Given the description of an element on the screen output the (x, y) to click on. 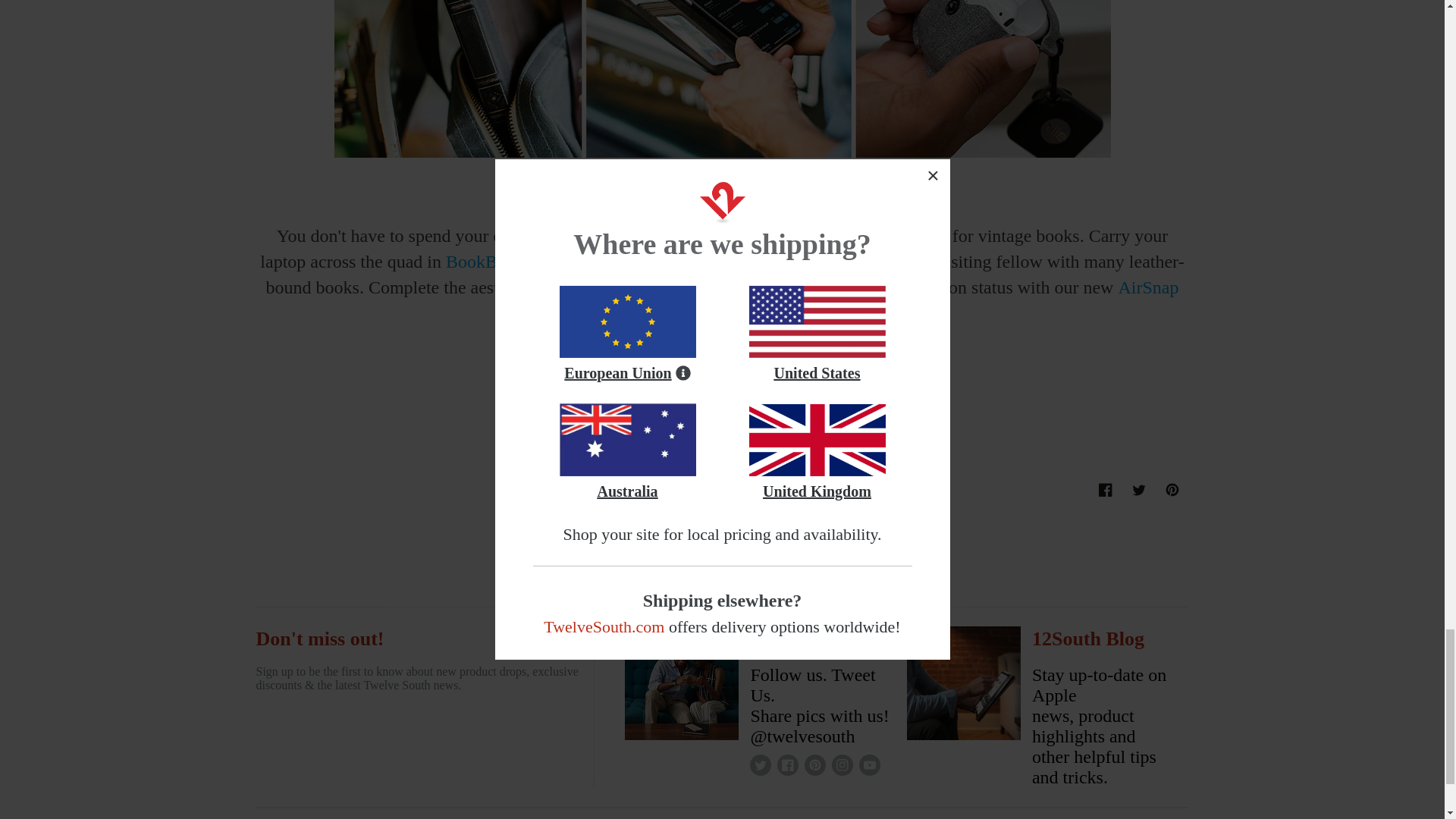
AirSnap Twill (1172, 489)
YouTube (938, 299)
Facebook (869, 764)
BookBook vol. 2 for MacBook (787, 764)
Twitter (558, 261)
Pinterest (1139, 489)
Instagram (760, 764)
BookBook for iPhone (815, 764)
